Given the description of an element on the screen output the (x, y) to click on. 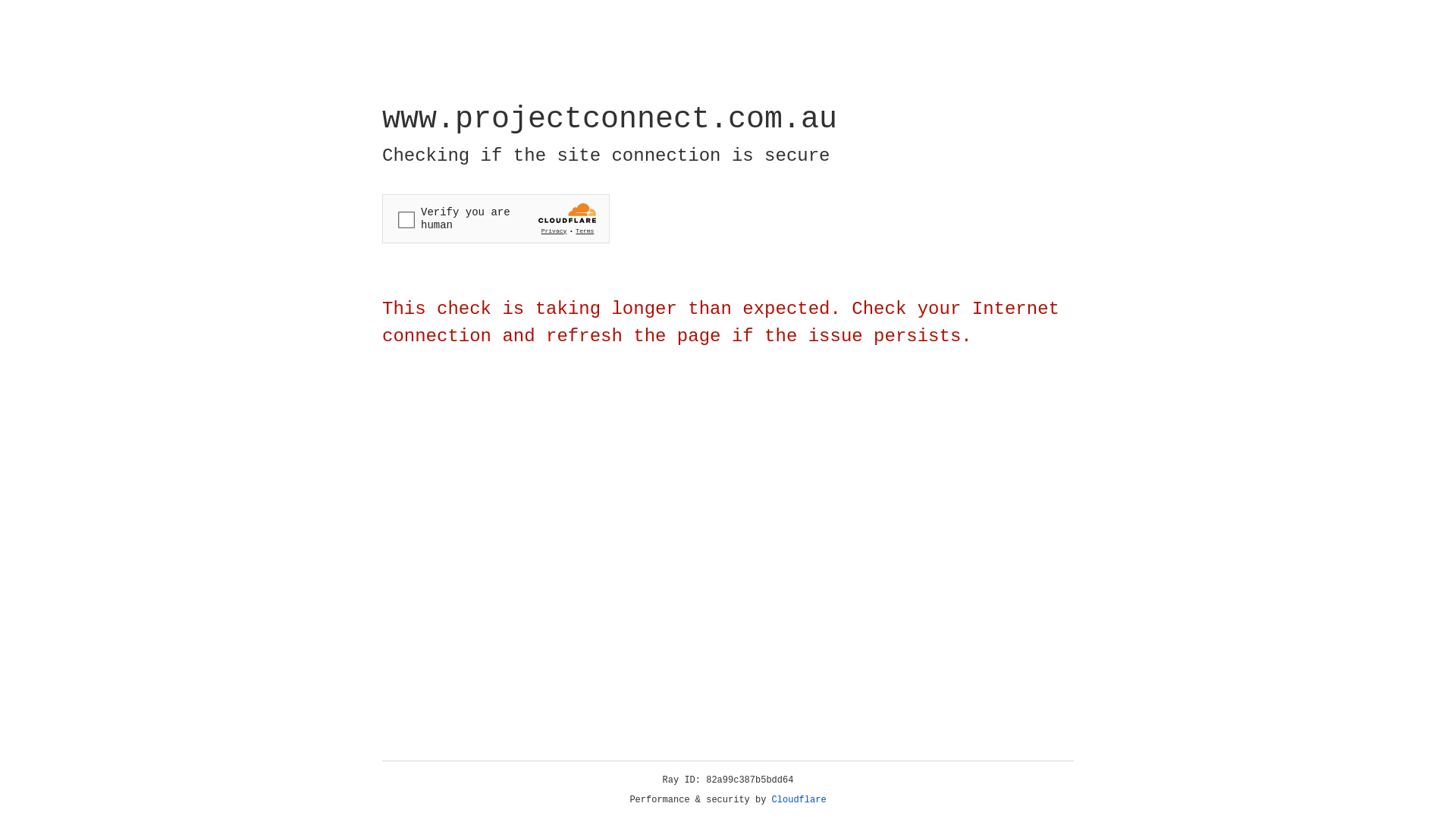
Widget containing a Cloudflare security challenge Element type: hover (495, 218)
Cloudflare Element type: text (798, 799)
